Given the description of an element on the screen output the (x, y) to click on. 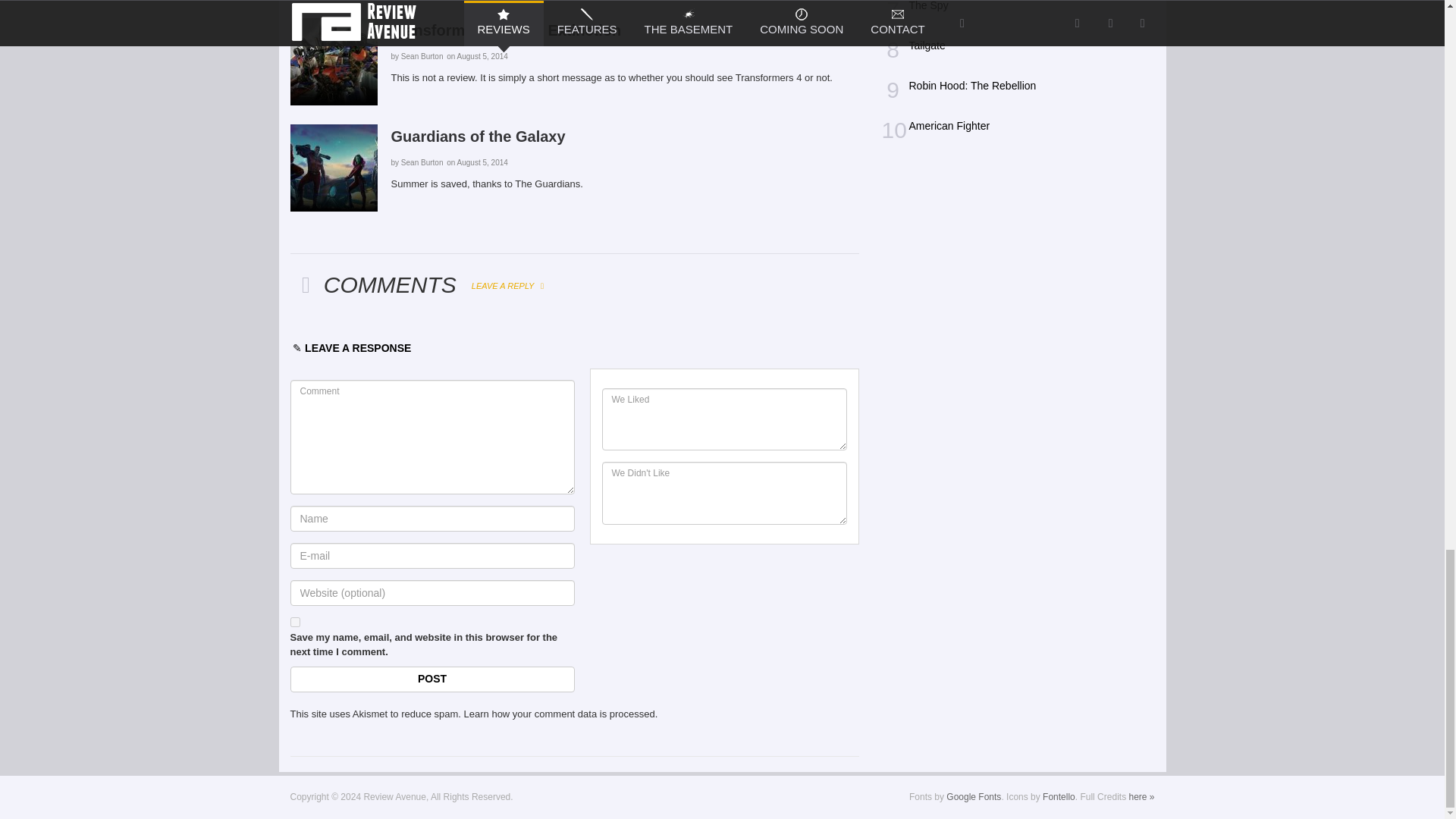
Post (431, 679)
yes (294, 622)
